Given the description of an element on the screen output the (x, y) to click on. 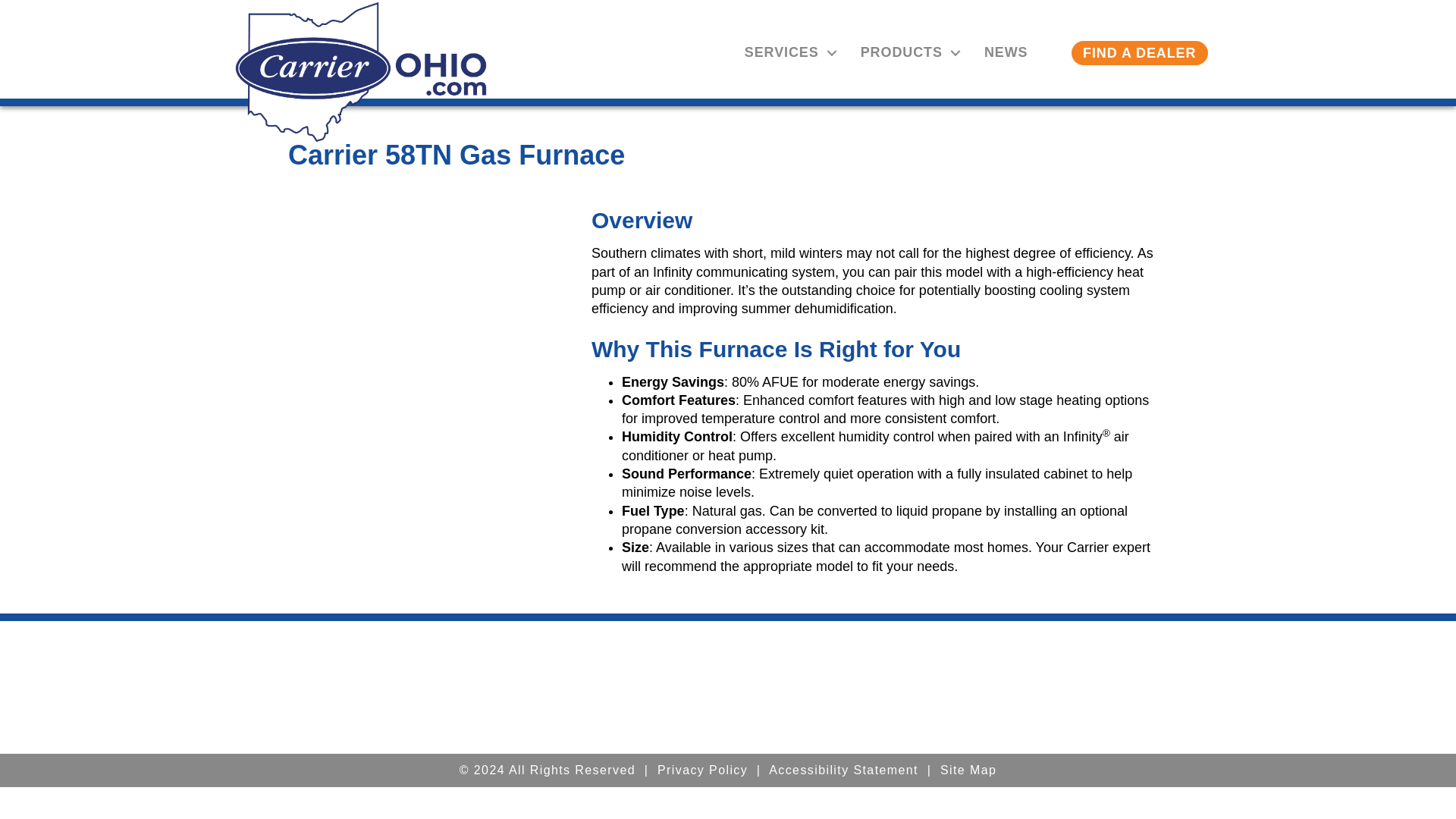
FIND A DEALER (1139, 52)
NEWS (1006, 51)
PRODUCTS (906, 51)
Carrier Factory Authorized Dealer Logo (970, 687)
RSC logo-RGB (484, 687)
SERVICES (786, 51)
RSC logo-RGB (360, 72)
